Given the description of an element on the screen output the (x, y) to click on. 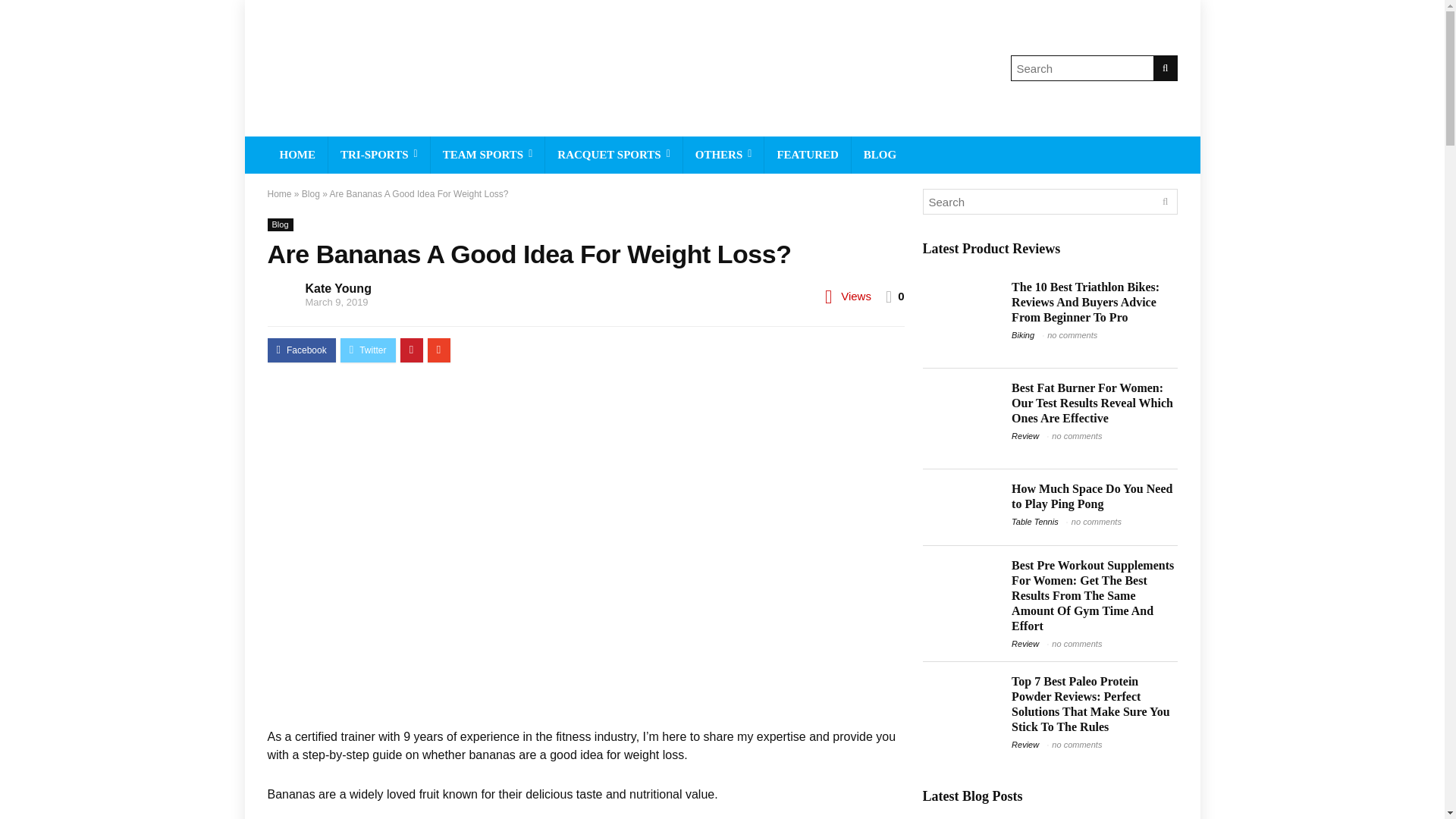
Blog (279, 224)
BLOG (879, 154)
Kate Young (337, 287)
TEAM SPORTS (487, 154)
View all posts in Blog (279, 224)
OTHERS (723, 154)
Home (278, 194)
FEATURED (807, 154)
TRI-SPORTS (379, 154)
RACQUET SPORTS (612, 154)
Blog (310, 194)
HOME (296, 154)
